Given the description of an element on the screen output the (x, y) to click on. 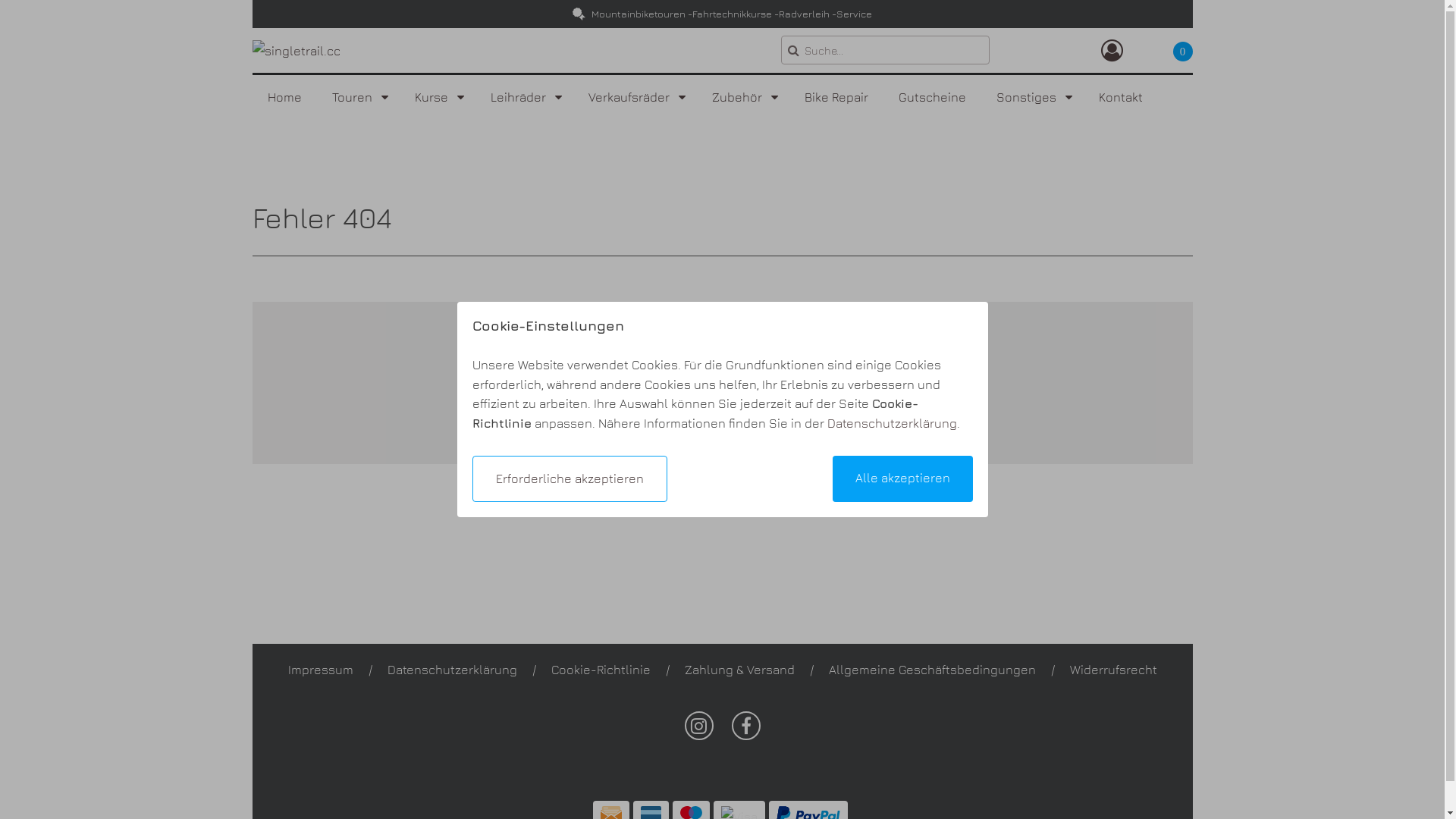
Kurse Element type: text (436, 96)
Alle akzeptieren Element type: text (902, 478)
Gutscheine Element type: text (931, 96)
Zahlung & Versand Element type: text (738, 669)
Sonstiges Element type: text (1032, 96)
Widerrufsrecht Element type: text (1112, 669)
Impressum Element type: text (320, 669)
Suche Element type: text (793, 49)
Home Element type: text (283, 96)
Erforderliche akzeptieren Element type: text (568, 478)
Warenkorb anzeigen. Sie haben 0 Artikel im Warenkorb.
0 Element type: text (1168, 50)
Touren Element type: text (357, 96)
singletrail.cc Element type: hover (295, 50)
Cookie-Richtlinie Element type: text (599, 669)
Bike Repair Element type: text (835, 96)
Kontakt Element type: text (1119, 96)
